Given the description of an element on the screen output the (x, y) to click on. 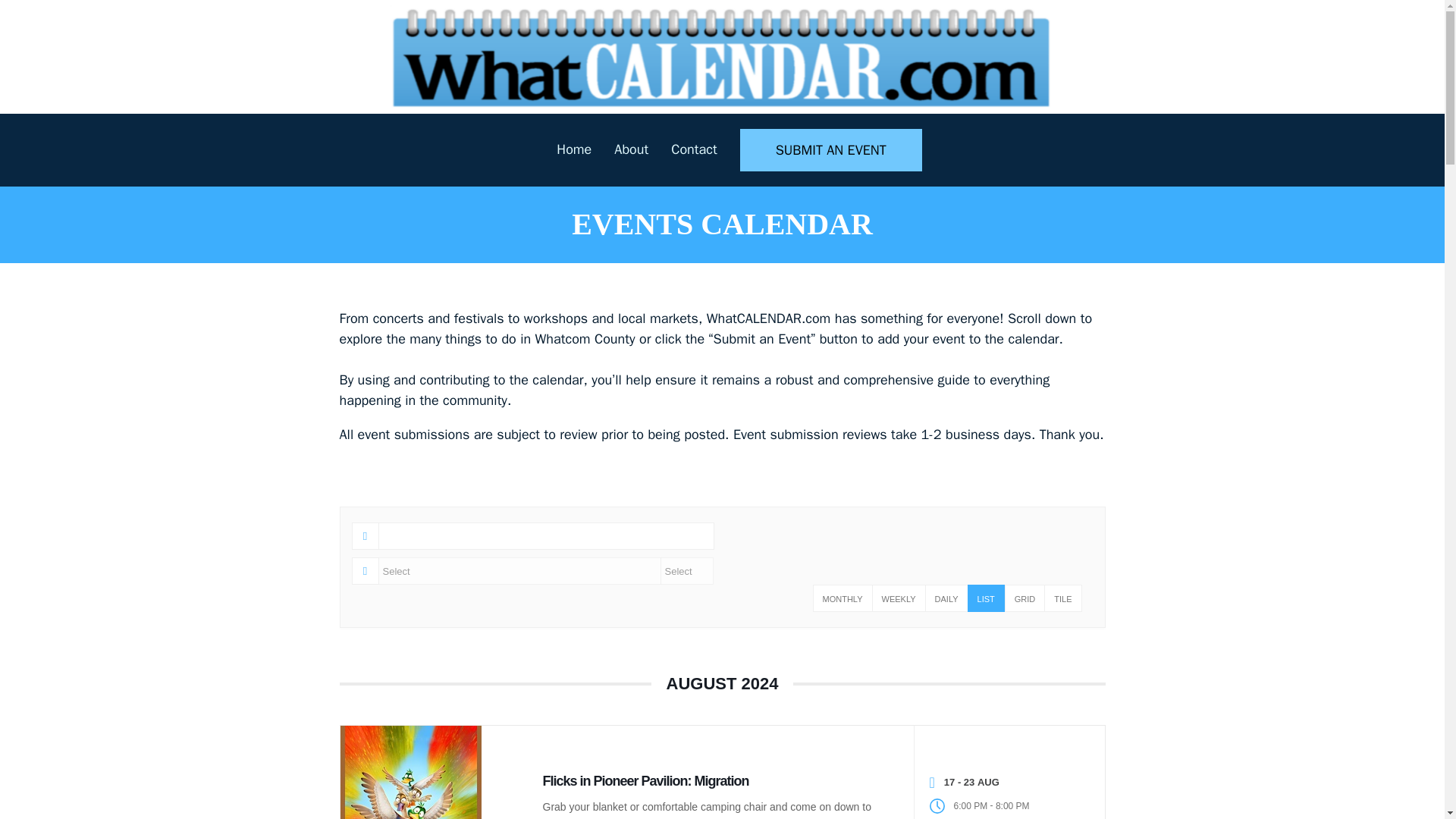
Contact (693, 149)
About (630, 149)
Flicks in Pioneer Pavilion: Migration (646, 780)
SUBMIT AN EVENT (830, 149)
Month Filter (519, 570)
Home (573, 149)
Year Filter (686, 570)
